Given the description of an element on the screen output the (x, y) to click on. 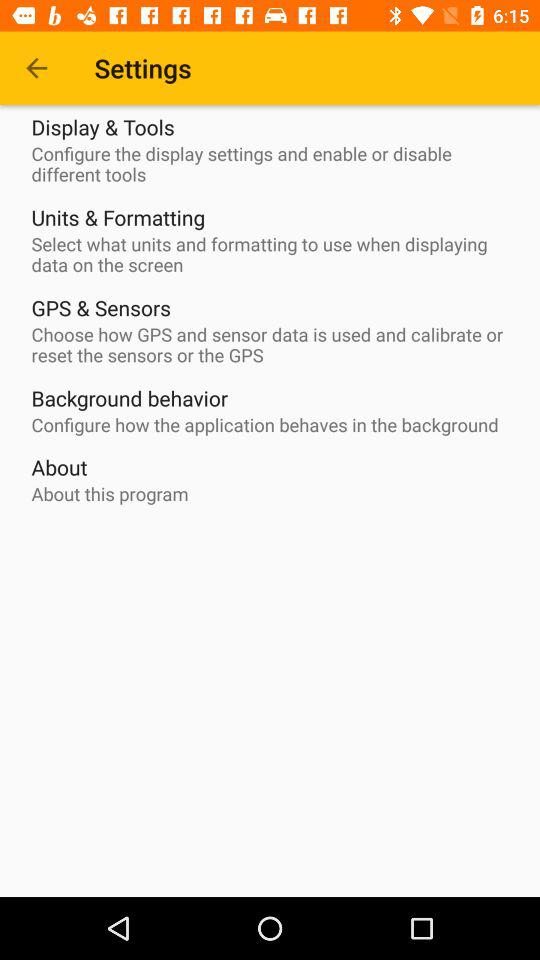
turn off the item to the left of the settings item (36, 68)
